Given the description of an element on the screen output the (x, y) to click on. 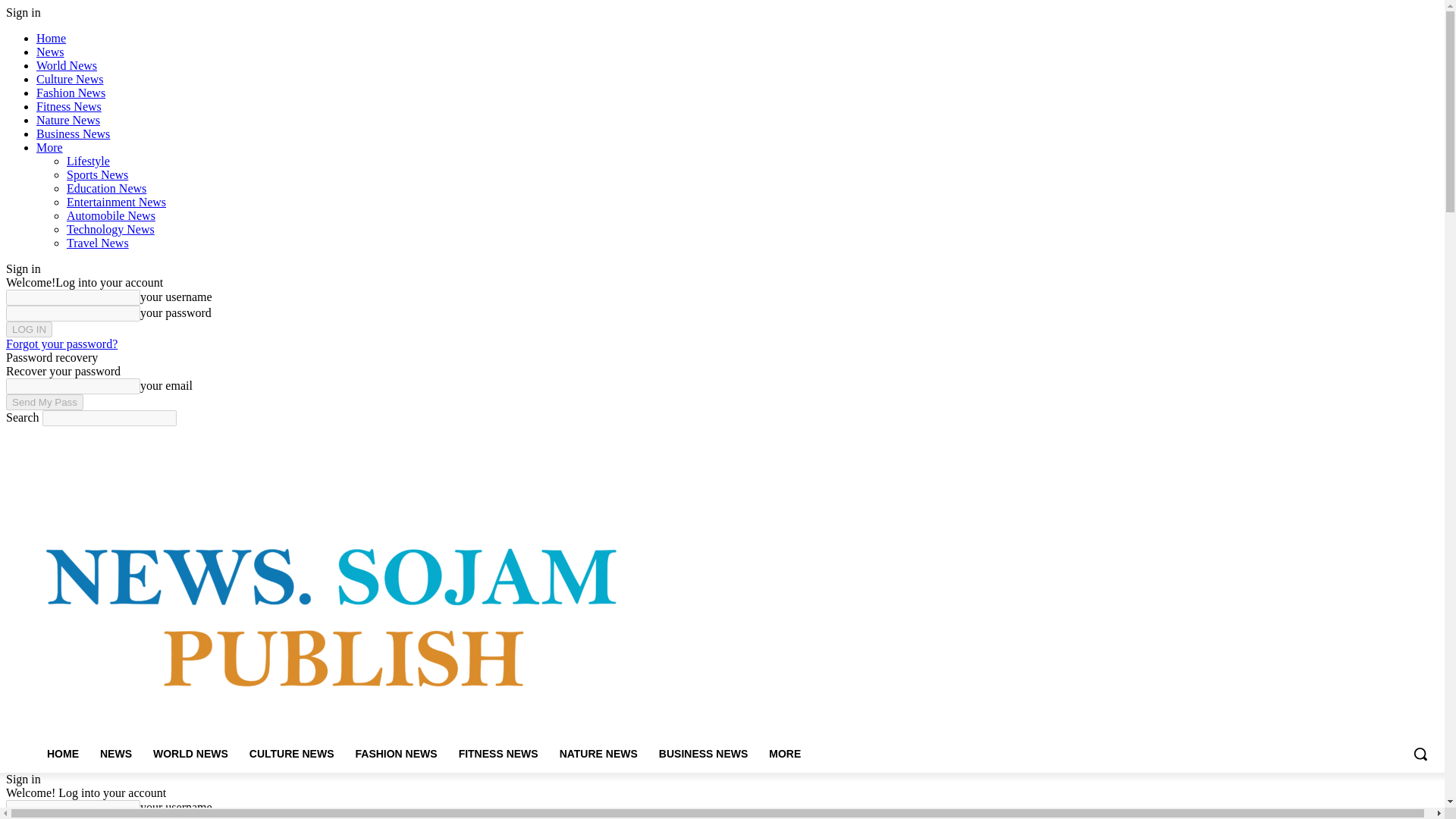
FASHION NEWS (394, 753)
Lifestyle (88, 160)
Send My Pass (43, 401)
BUSINESS NEWS (702, 753)
Automobile News (110, 215)
News (50, 51)
NEWS (115, 753)
Culture News (69, 78)
Travel News (97, 242)
HOME (62, 753)
